Given the description of an element on the screen output the (x, y) to click on. 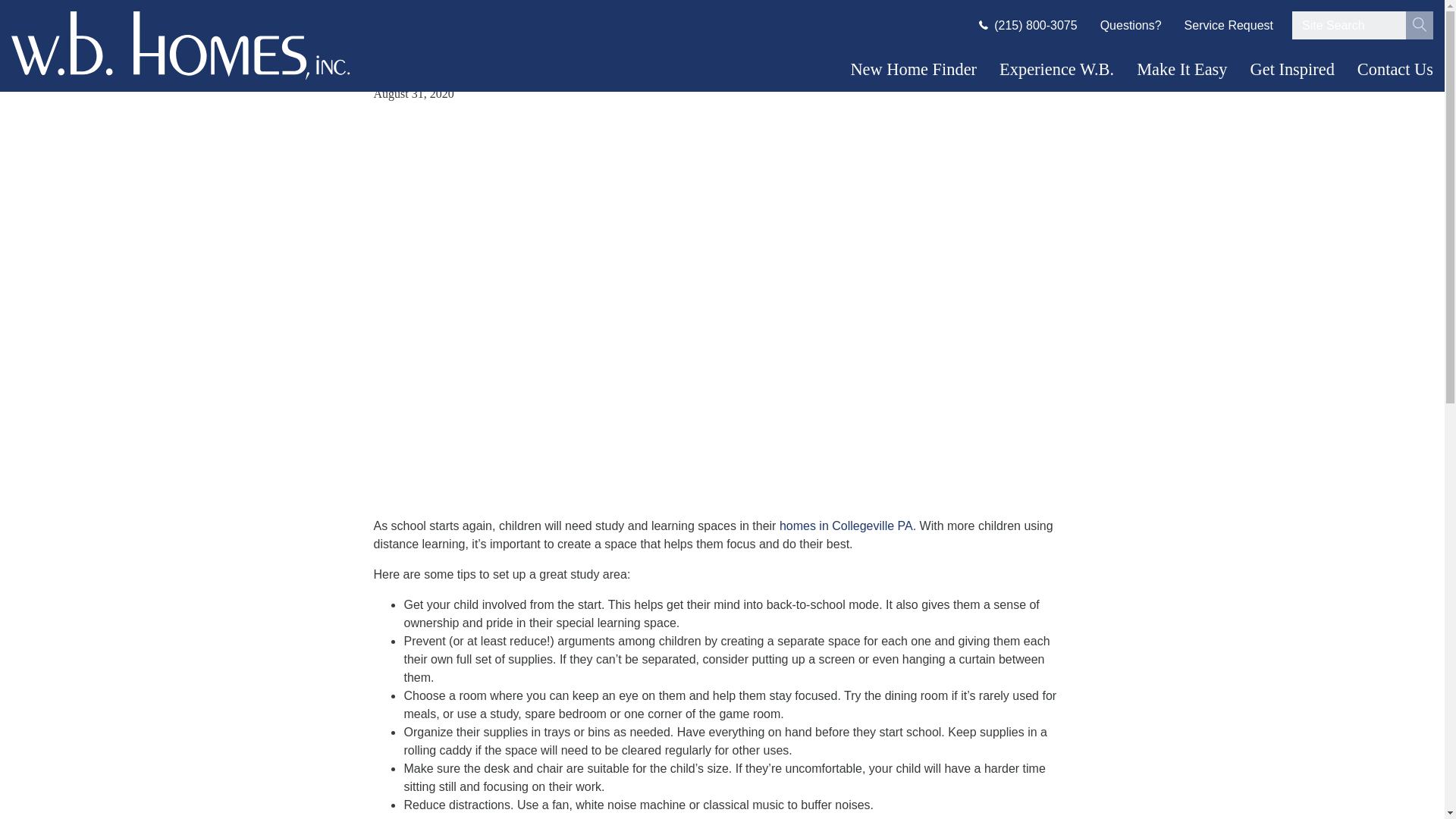
Get Inspired (1292, 68)
Questions? (1130, 24)
Fill 1 (1419, 24)
homes in Collegeville PA (845, 525)
Make It Easy (1182, 68)
Experience W.B. (1055, 68)
New Home Finder (913, 68)
Contact Us (1419, 25)
Service Request (1394, 68)
